Given the description of an element on the screen output the (x, y) to click on. 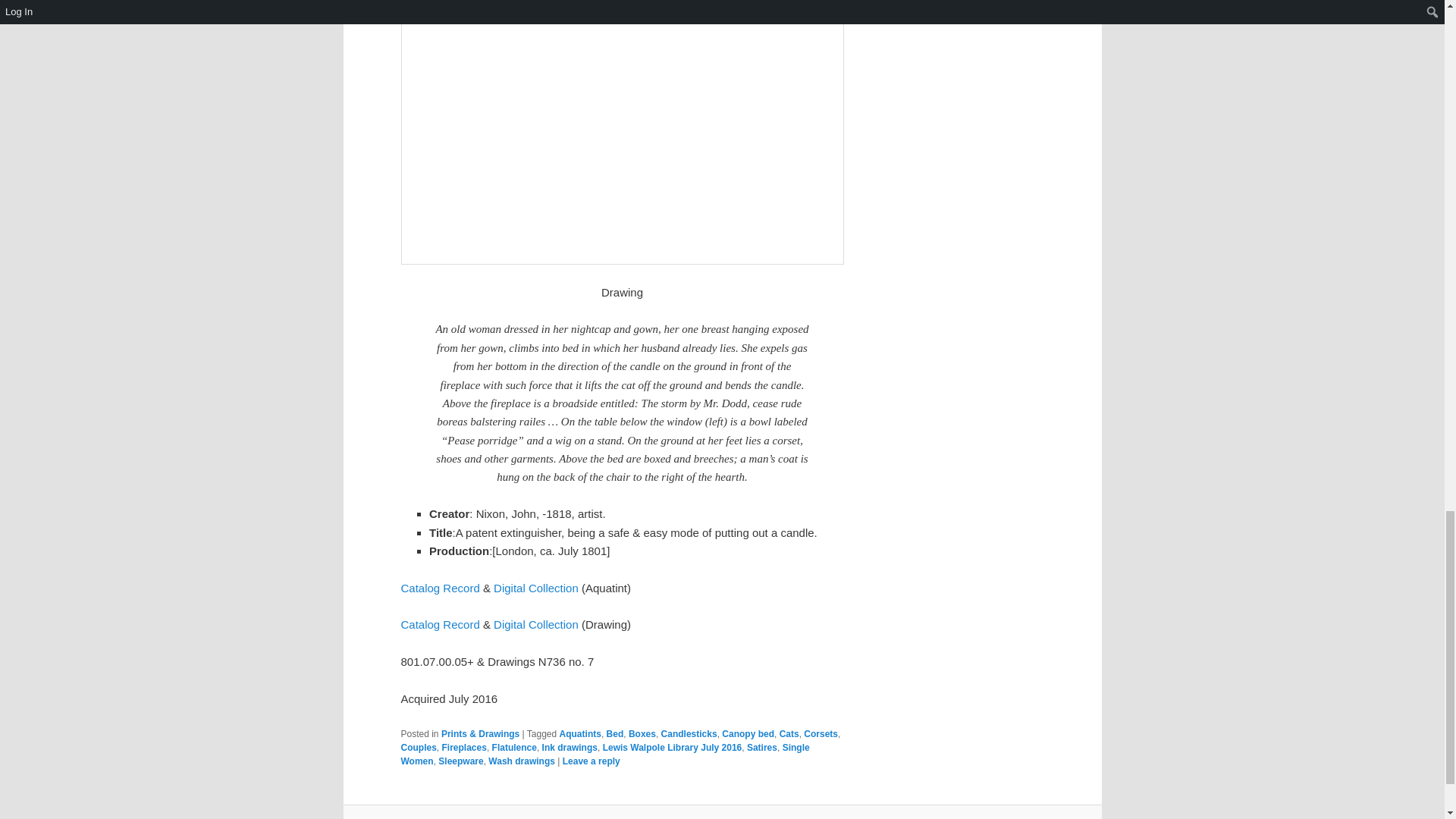
Bed (615, 733)
Sleepware (460, 760)
Aquatints (580, 733)
Subscribe me! (1027, 428)
Bibliographic Record Display (636, 532)
Digital Collection (535, 624)
Canopy bed (748, 733)
Candlesticks (689, 733)
Single Women (604, 754)
Lewis Walpole Library July 2016 (672, 747)
